Given the description of an element on the screen output the (x, y) to click on. 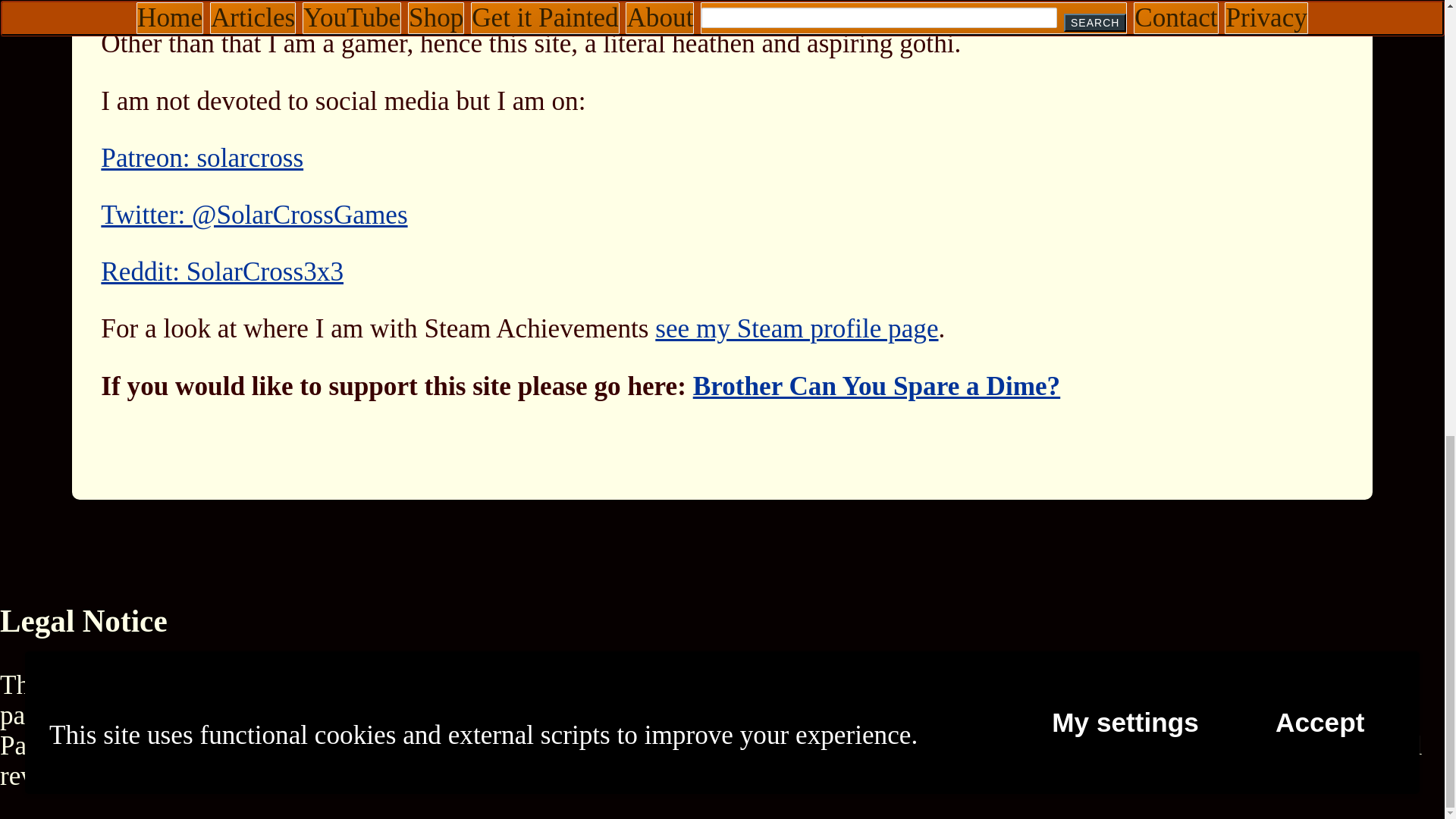
Reddit: SolarCross3x3 (221, 271)
see my Steam profile page (796, 328)
Brother Can You Spare a Dime? (877, 386)
Patreon: solarcross (201, 157)
